Given the description of an element on the screen output the (x, y) to click on. 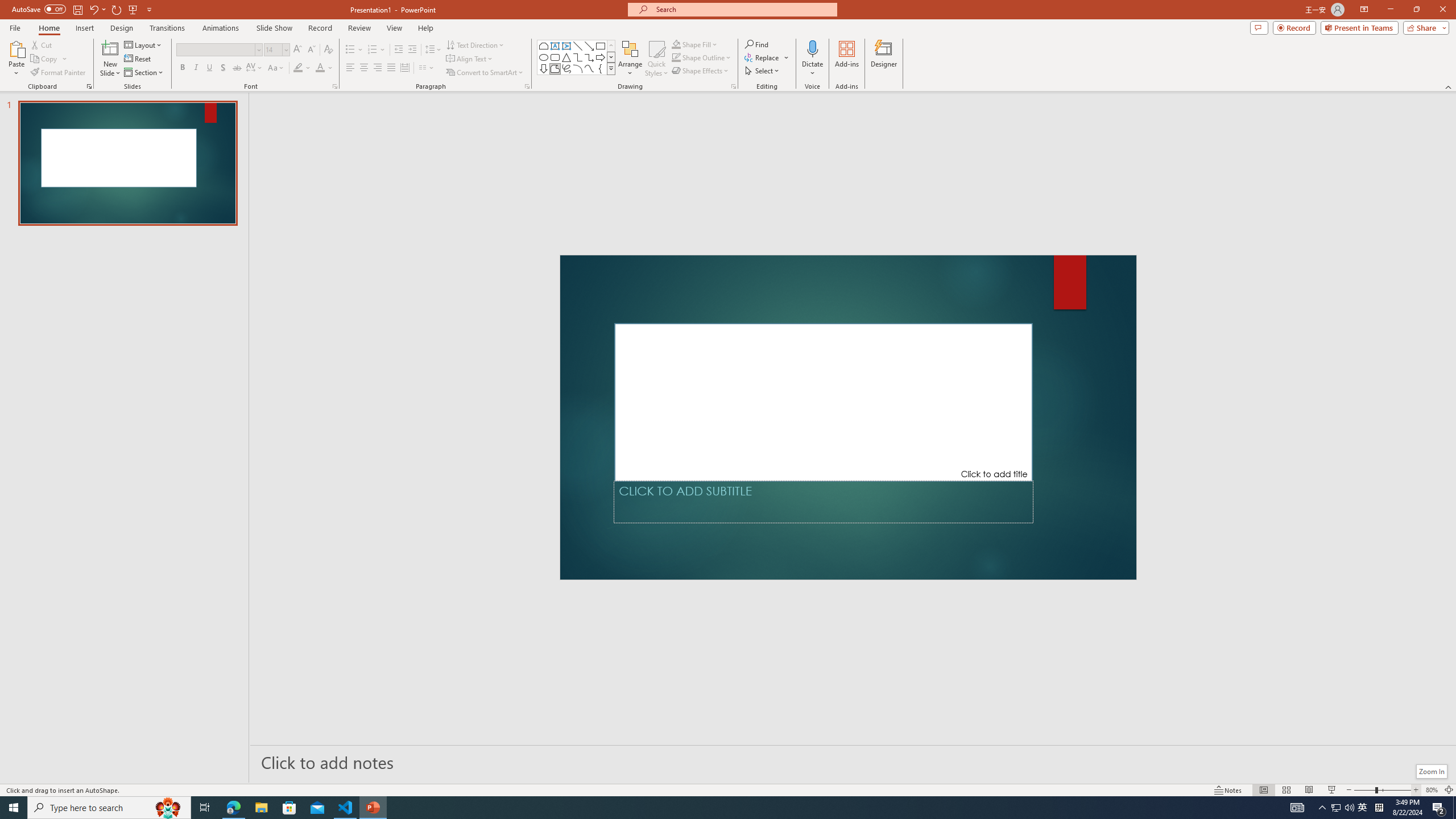
Subtitle TextBox (822, 501)
Shape Fill Orange, Accent 2 (675, 44)
